Given the description of an element on the screen output the (x, y) to click on. 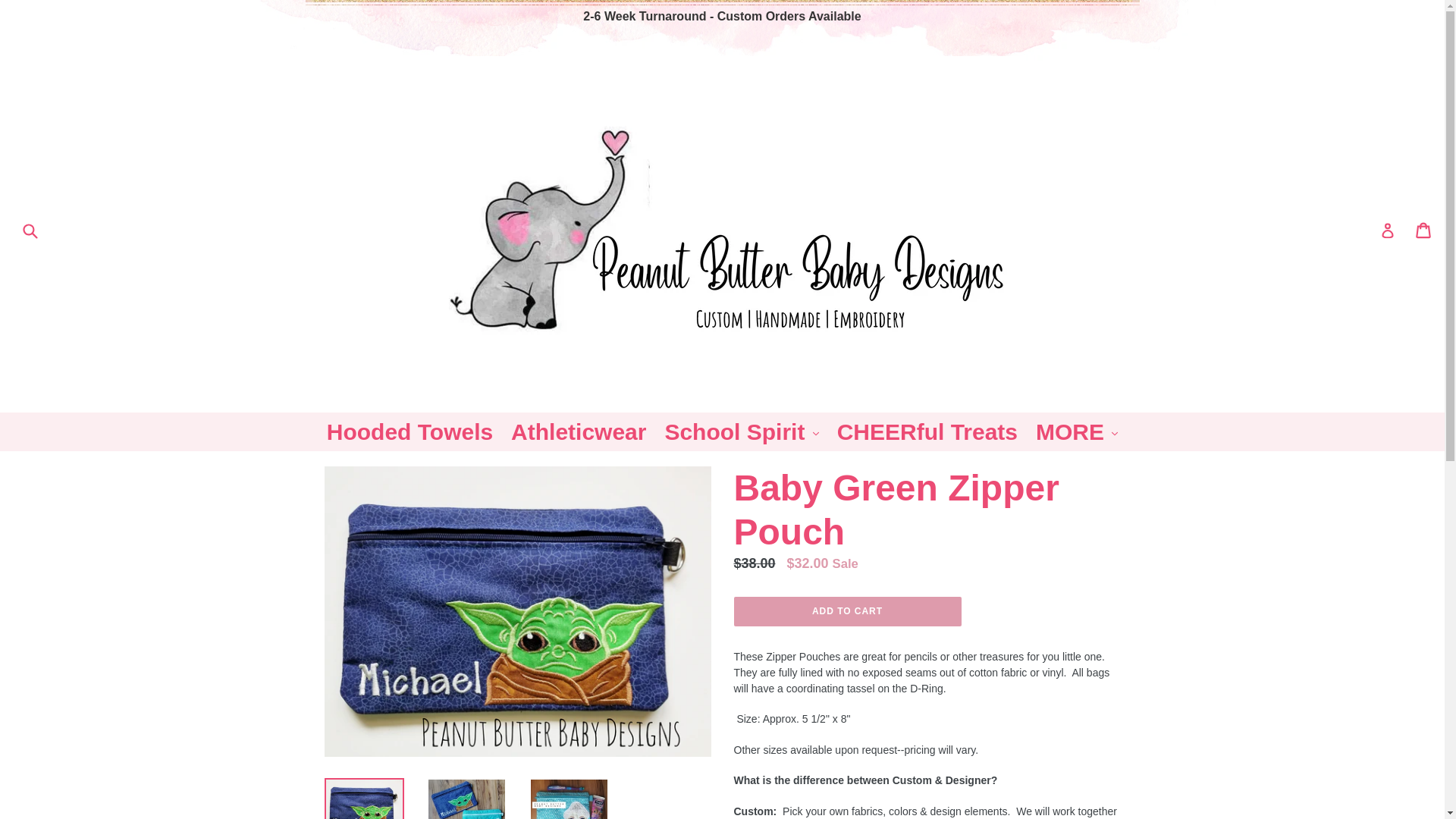
Athleticwear (578, 431)
Hooded Towels (409, 431)
